Given the description of an element on the screen output the (x, y) to click on. 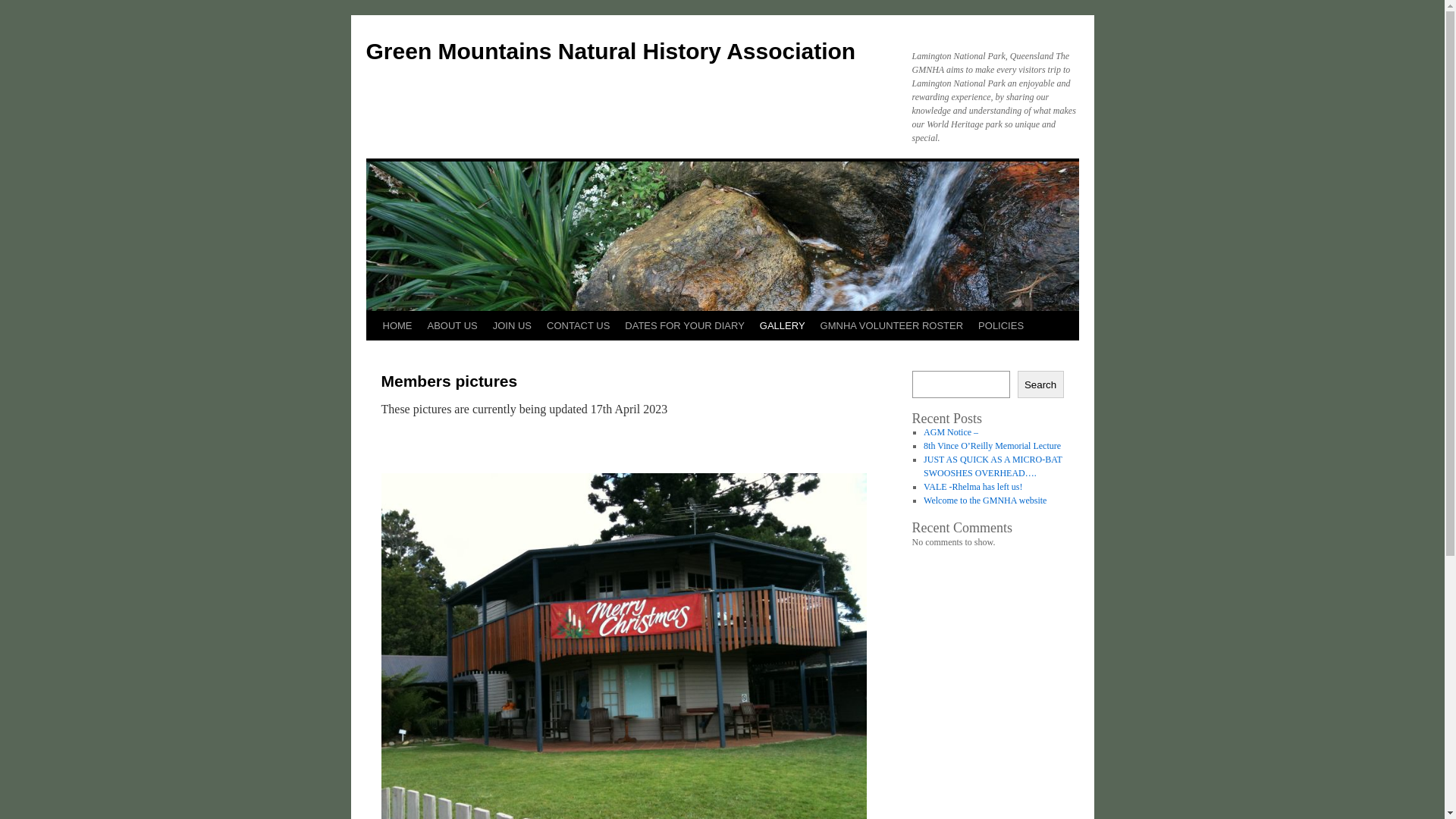
Search Element type: text (1040, 384)
ABOUT US Element type: text (452, 325)
POLICIES Element type: text (1000, 325)
Welcome to the GMNHA website Element type: text (984, 500)
JOIN US Element type: text (512, 325)
DATES FOR YOUR DIARY Element type: text (684, 325)
GALLERY Element type: text (782, 325)
Green Mountains Natural History Association Element type: text (610, 50)
CONTACT US Element type: text (578, 325)
HOME Element type: text (396, 325)
GMNHA VOLUNTEER ROSTER Element type: text (891, 325)
Skip to content Element type: text (372, 353)
VALE -Rhelma has left us! Element type: text (972, 486)
